Given the description of an element on the screen output the (x, y) to click on. 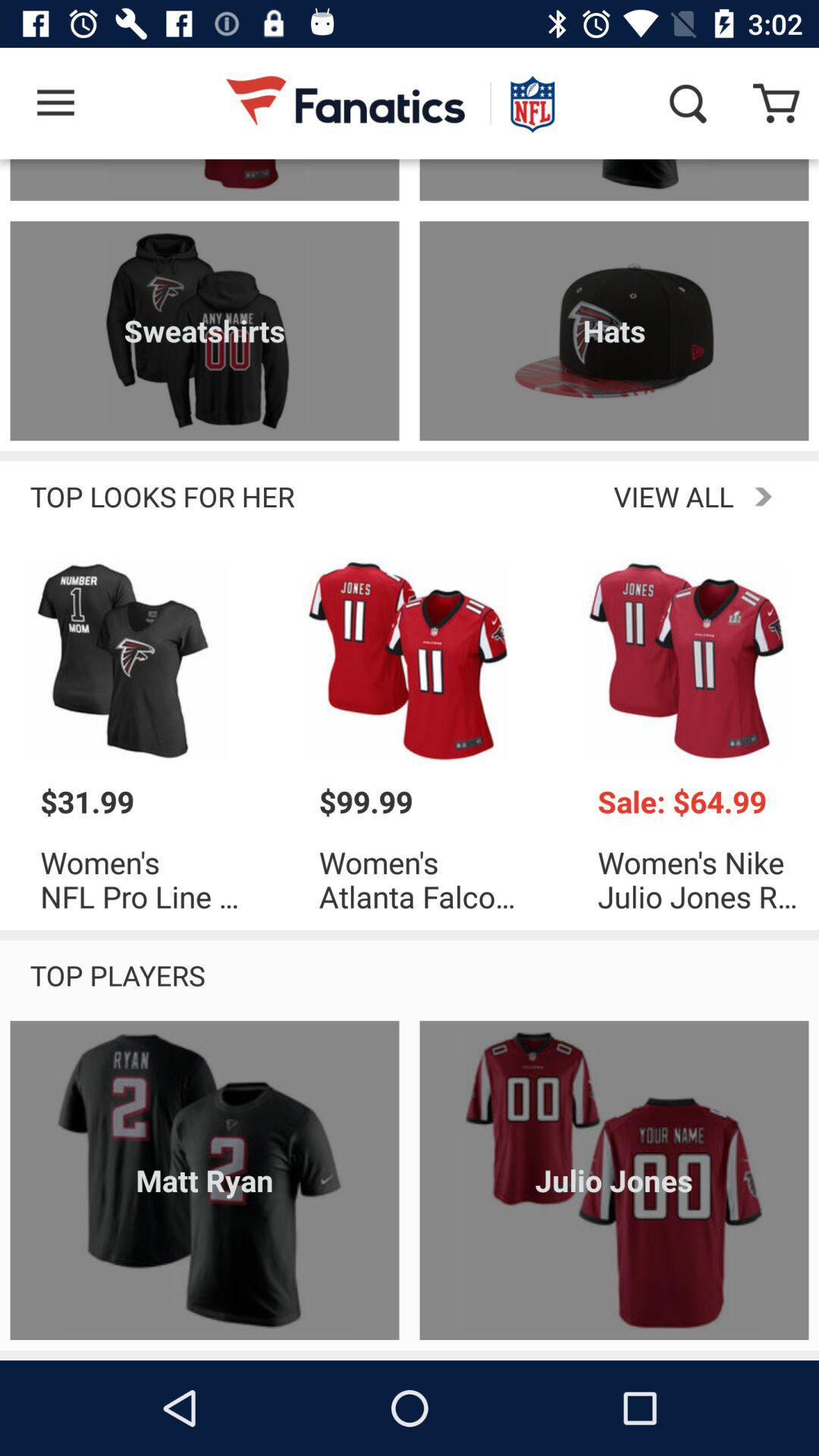
open icon to the right of the top looks for item (551, 496)
